Given the description of an element on the screen output the (x, y) to click on. 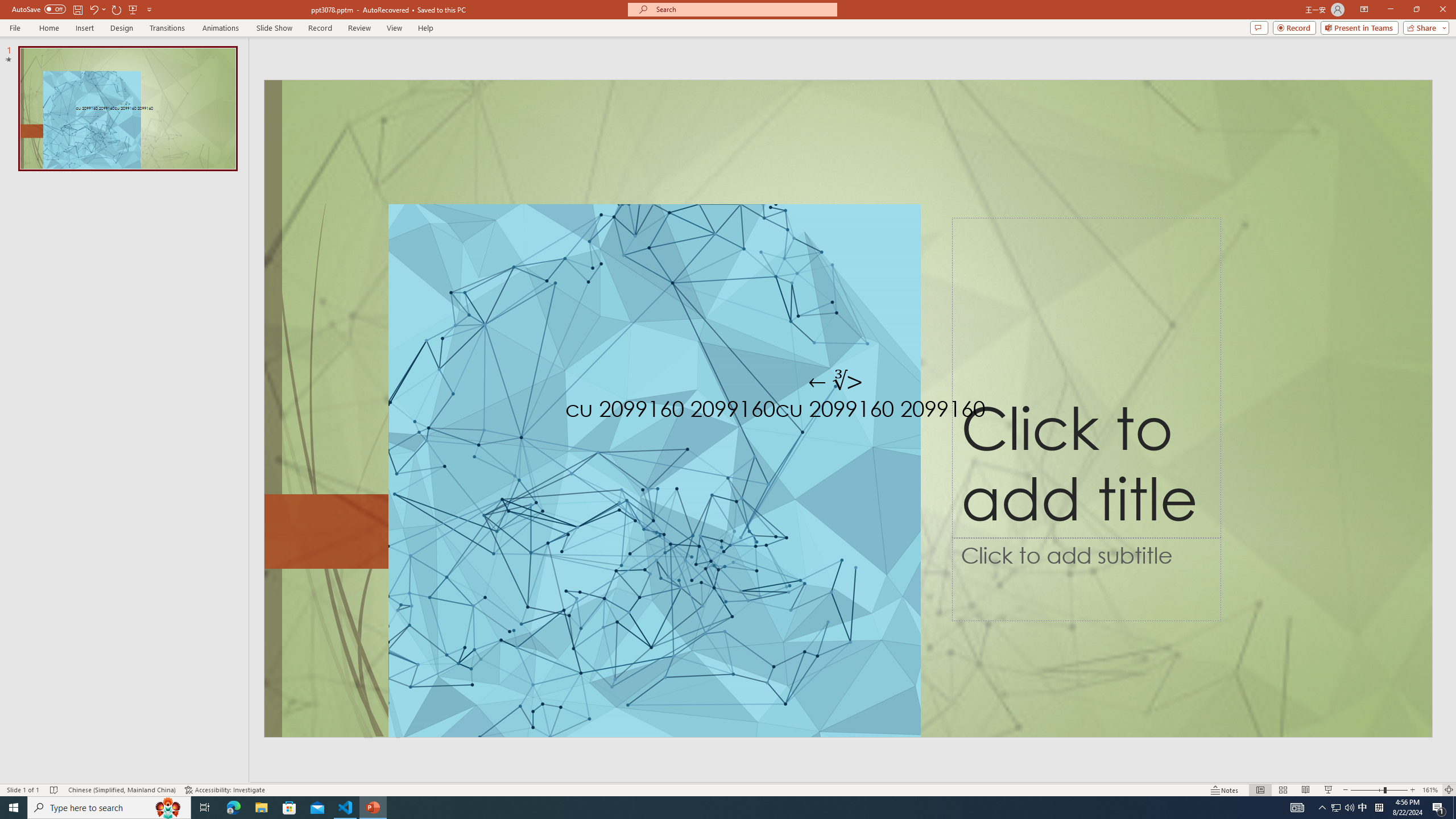
Zoom 161% (1430, 790)
Class: MsoCommandBar (728, 789)
